Given the description of an element on the screen output the (x, y) to click on. 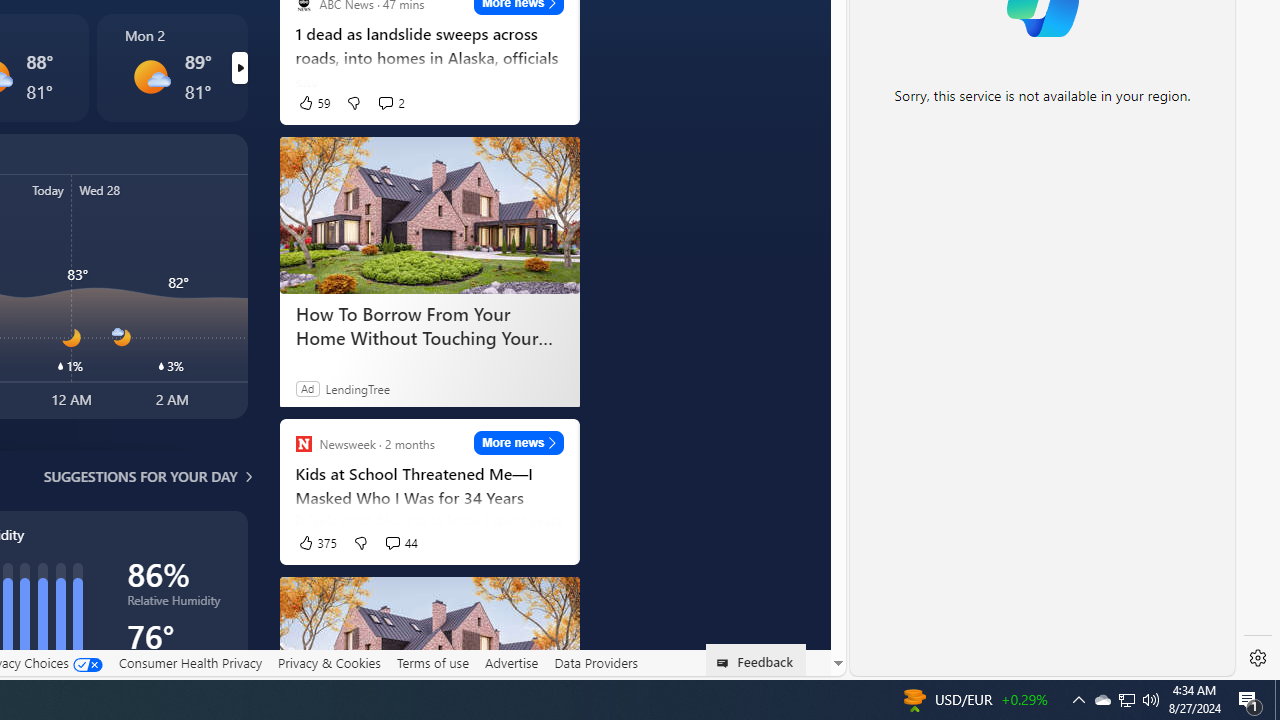
Ad (306, 388)
Advertise (510, 662)
Consumer Health Privacy (189, 662)
Advertise (510, 663)
Switch right (239, 67)
Privacy & Cookies (329, 662)
Data Providers (595, 663)
Terms of use (431, 663)
How To Borrow From Your Home Without Touching Your Mortgage (429, 325)
